Given the description of an element on the screen output the (x, y) to click on. 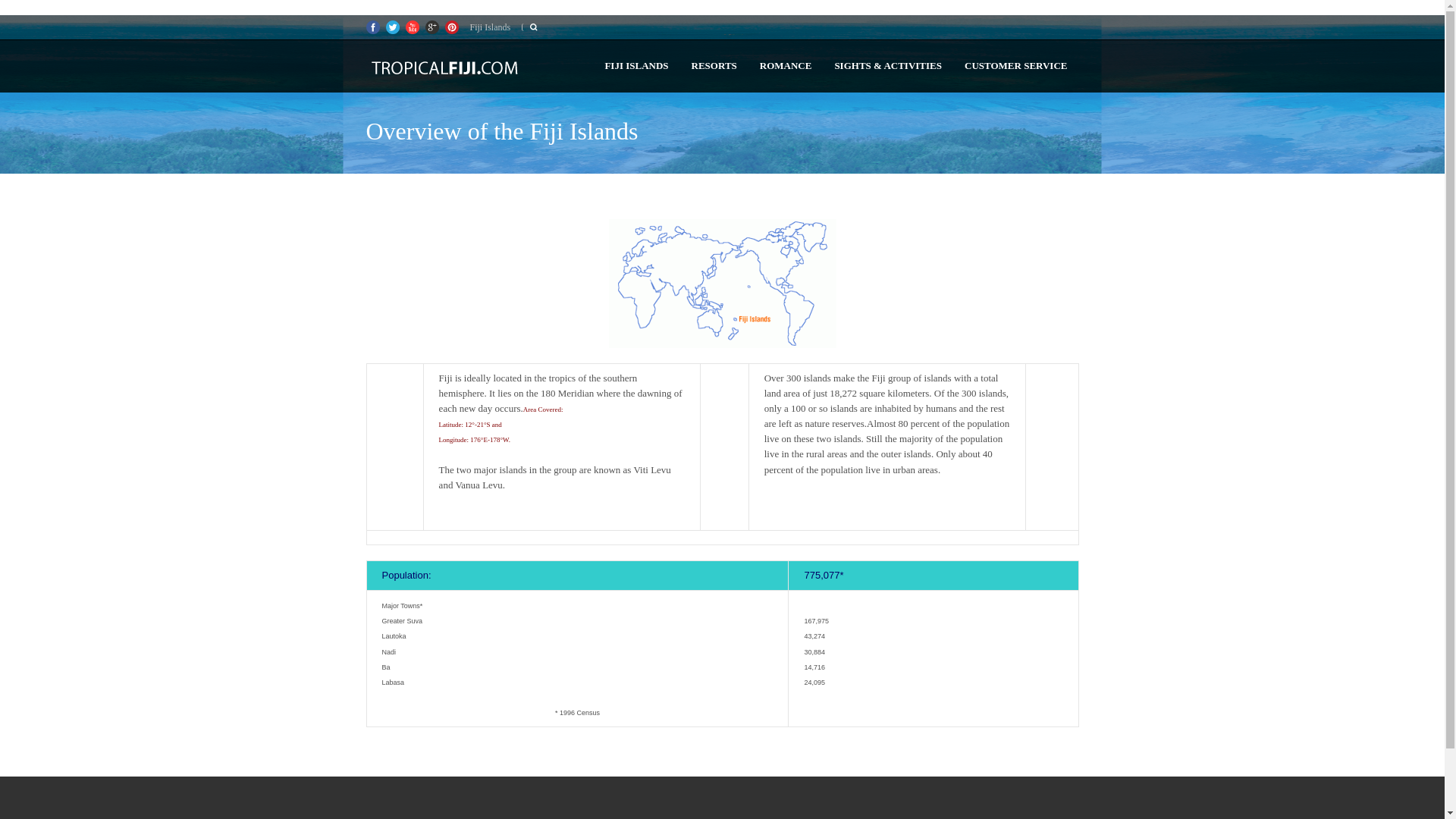
CUSTOMER SERVICE (1015, 65)
RESORTS (713, 65)
ROMANCE (786, 65)
FIJI ISLANDS (635, 65)
